Given the description of an element on the screen output the (x, y) to click on. 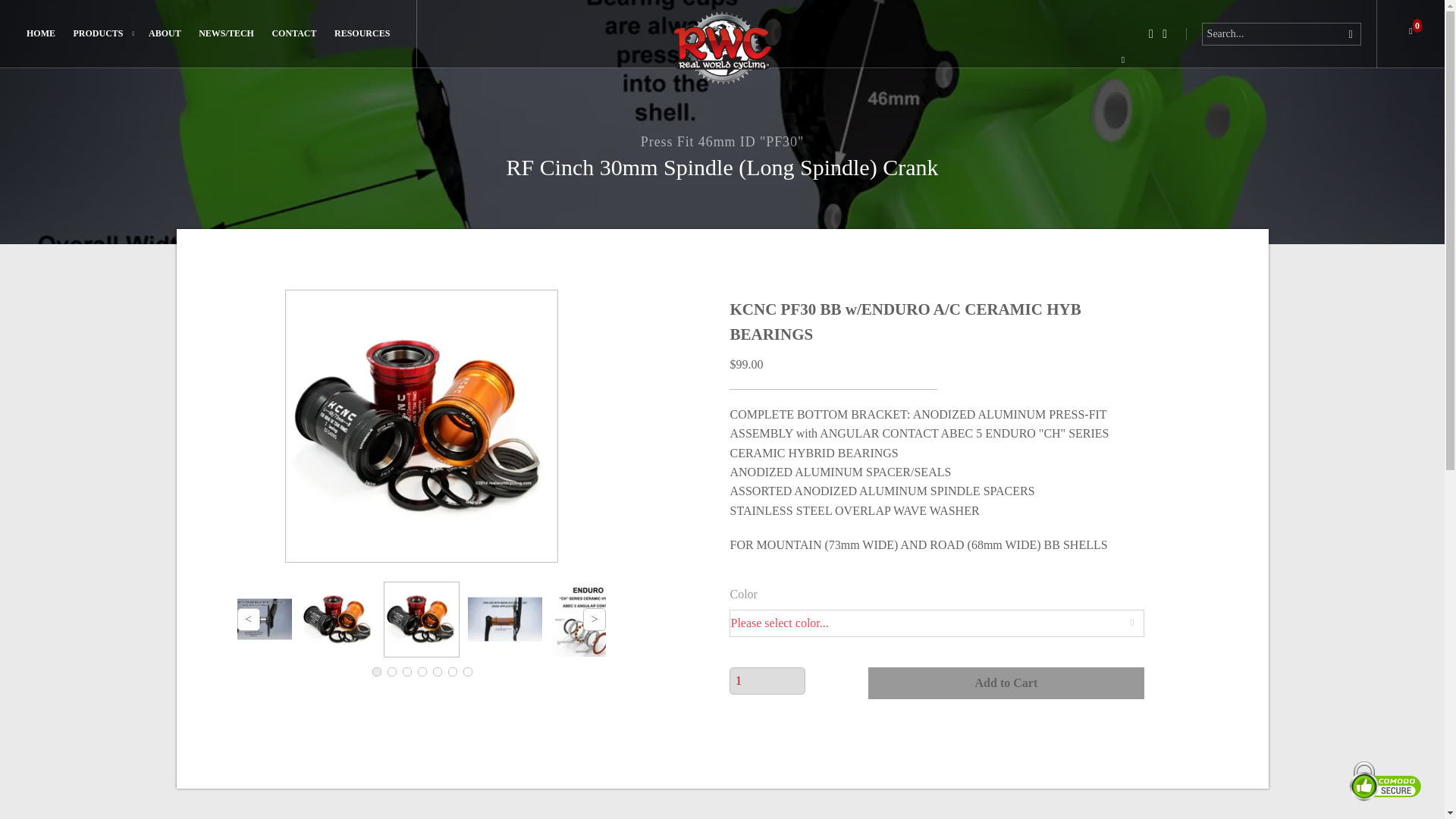
Press Fit 46mm ID "PF30" (721, 141)
Products (101, 33)
1 (767, 680)
Go to the homepage (721, 55)
Add to Cart (1005, 683)
PRODUCTS (101, 33)
